Given the description of an element on the screen output the (x, y) to click on. 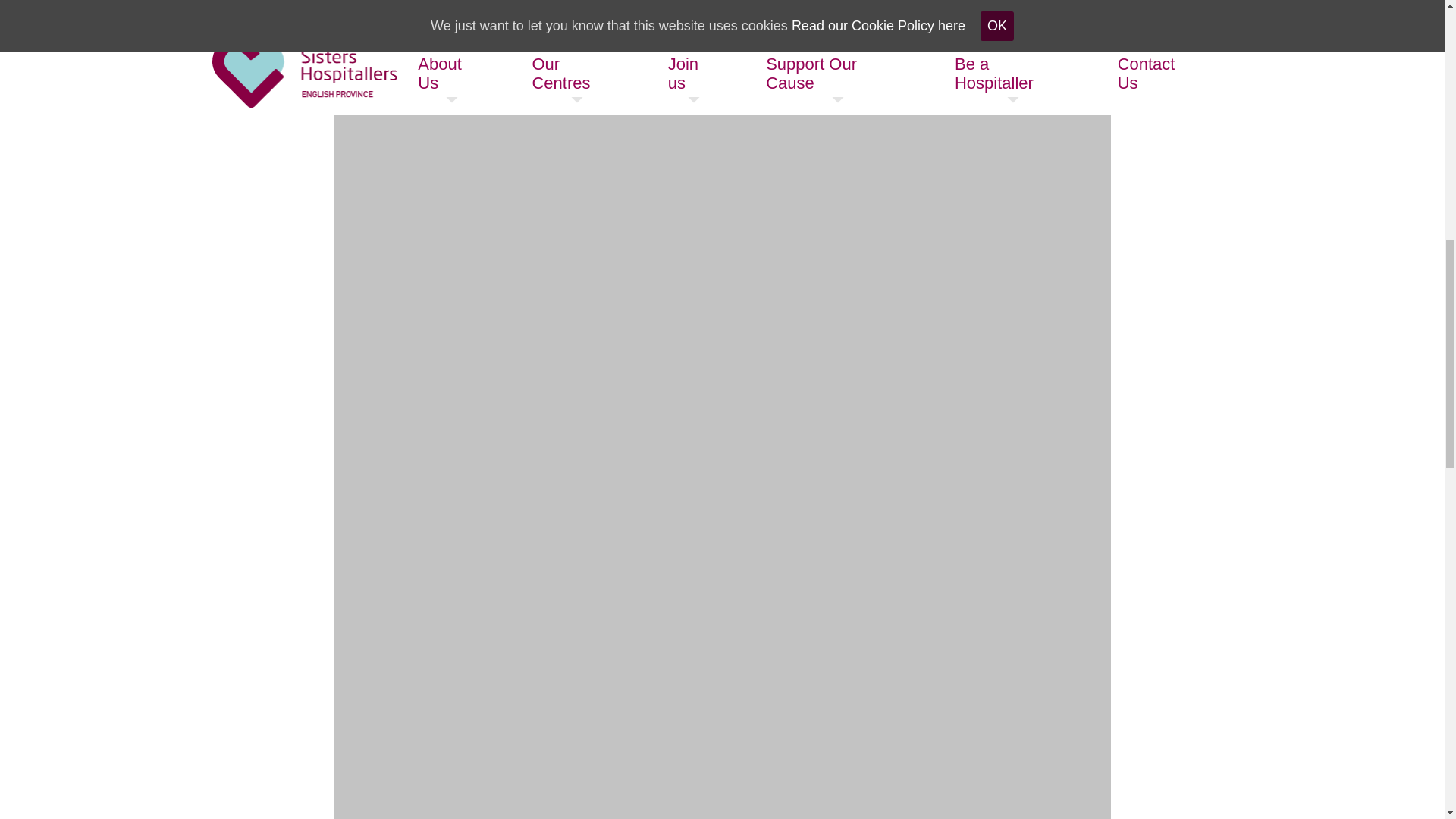
Become a volunteer! (640, 30)
